Given the description of an element on the screen output the (x, y) to click on. 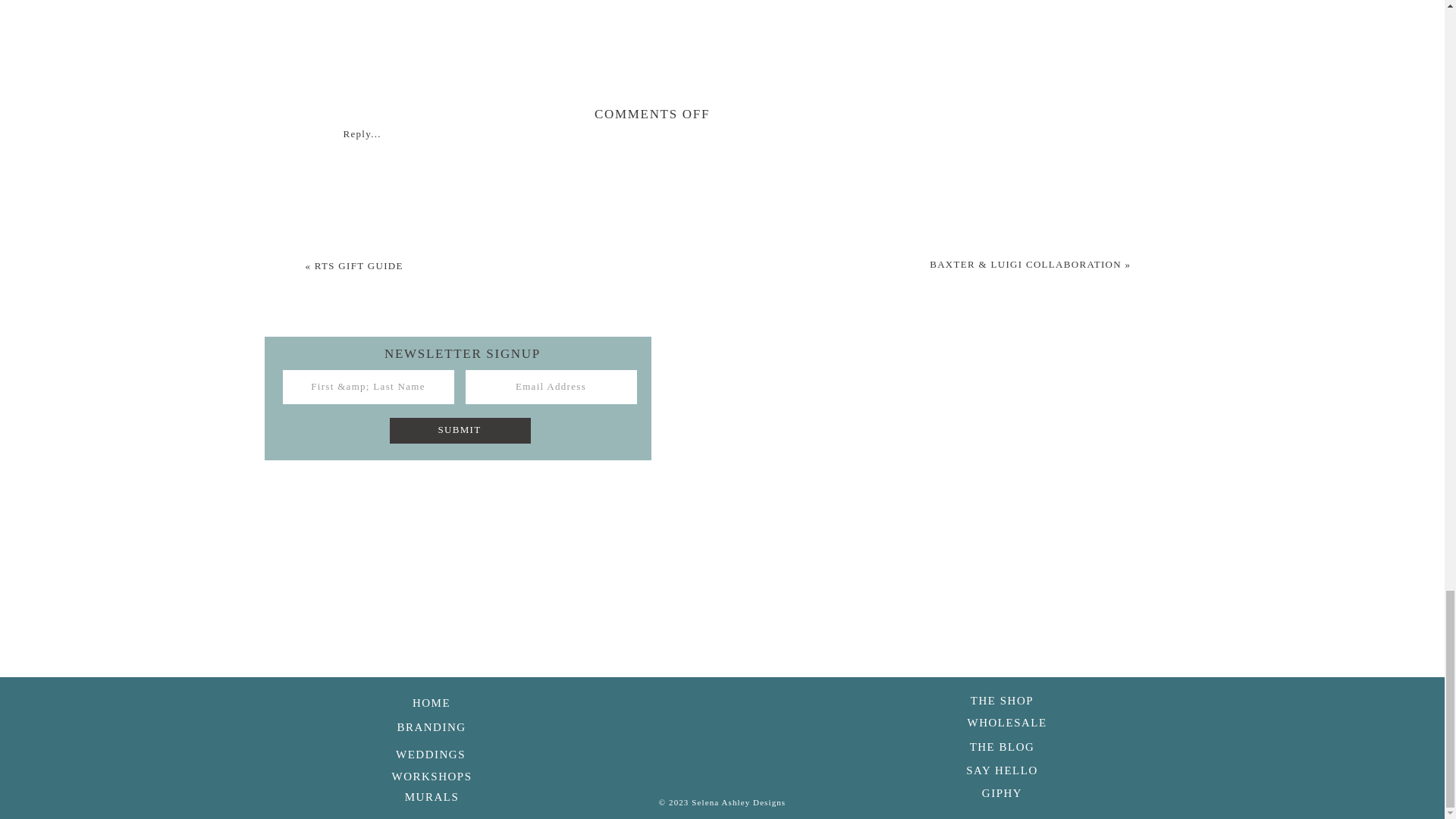
SAY HELLO (1001, 768)
WEDDINGS (430, 752)
THE BLOG (1002, 745)
HOME (431, 701)
GIPHY (1001, 791)
RTS GIFT GUIDE (358, 265)
WHOLESALE (1002, 720)
THE SHOP (1002, 699)
BRANDING (431, 725)
MURALS (431, 795)
